Given the description of an element on the screen output the (x, y) to click on. 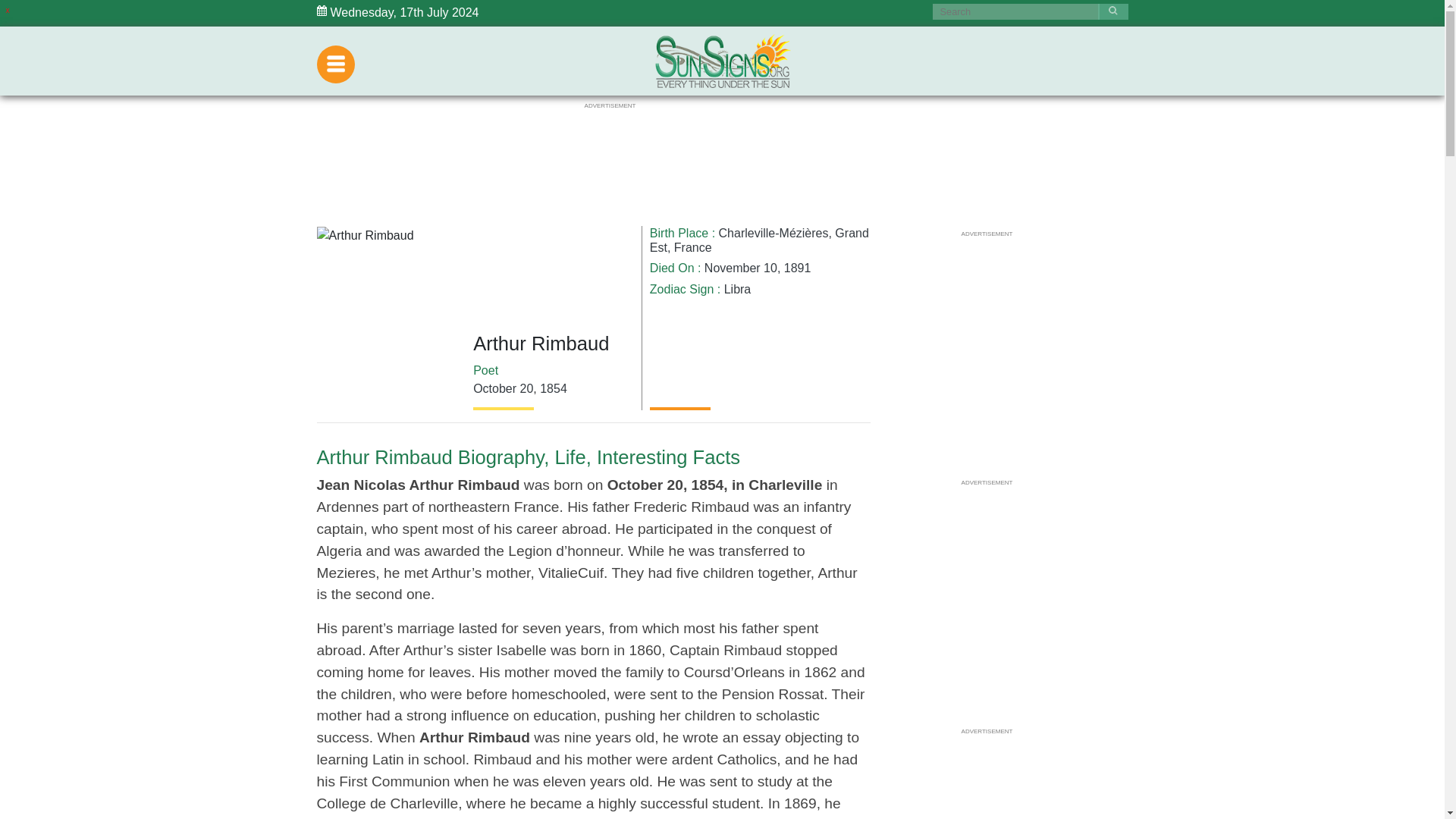
Zodiac Sign (681, 288)
3rd party ad content (609, 144)
October 20 (502, 388)
France (692, 246)
1891 (797, 267)
Libra (737, 288)
1854 (553, 388)
Grand Est (759, 239)
November 10 (740, 267)
Poet (485, 369)
